Given the description of an element on the screen output the (x, y) to click on. 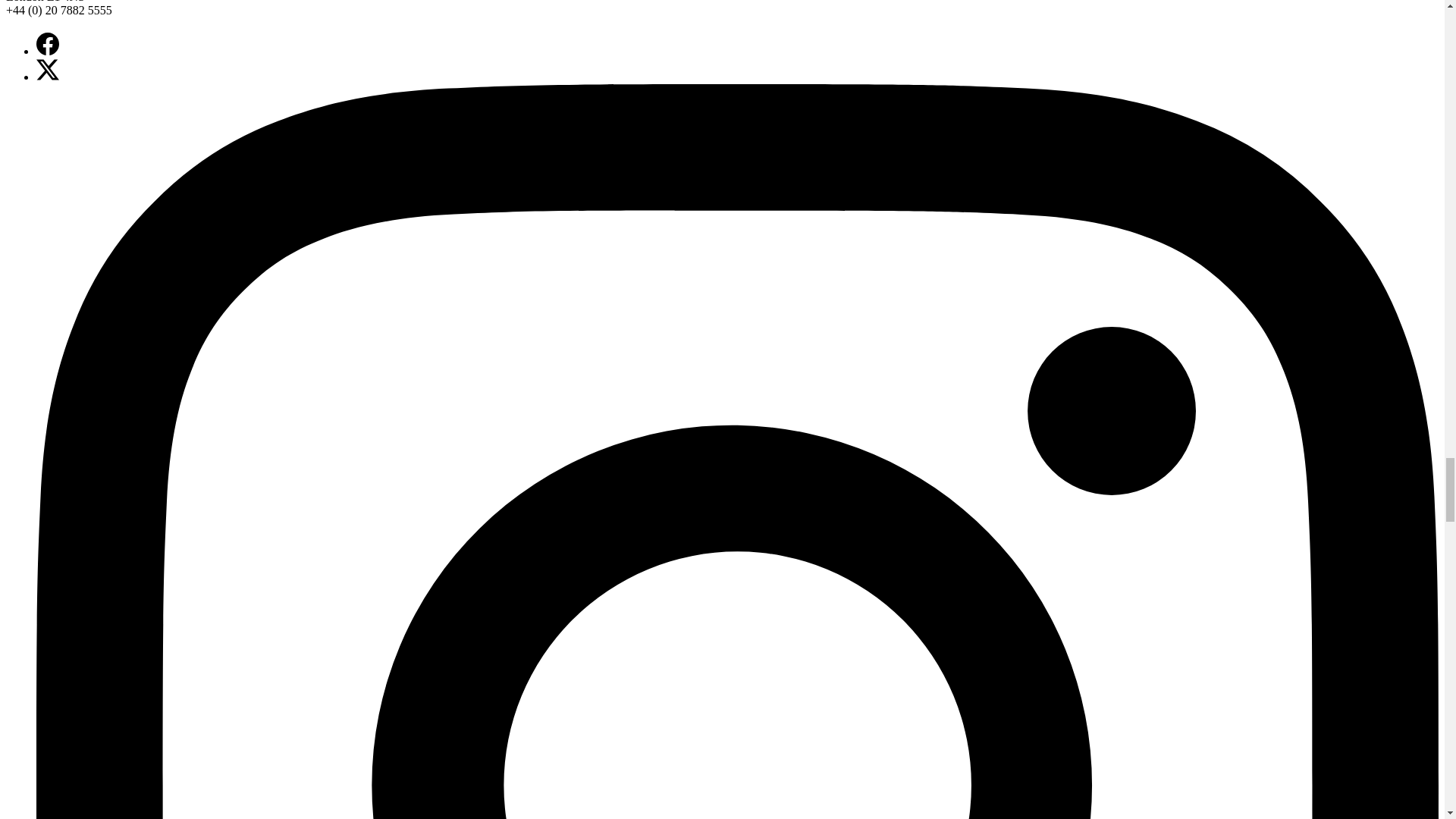
Facebook (47, 43)
Twitter X (47, 69)
